Given the description of an element on the screen output the (x, y) to click on. 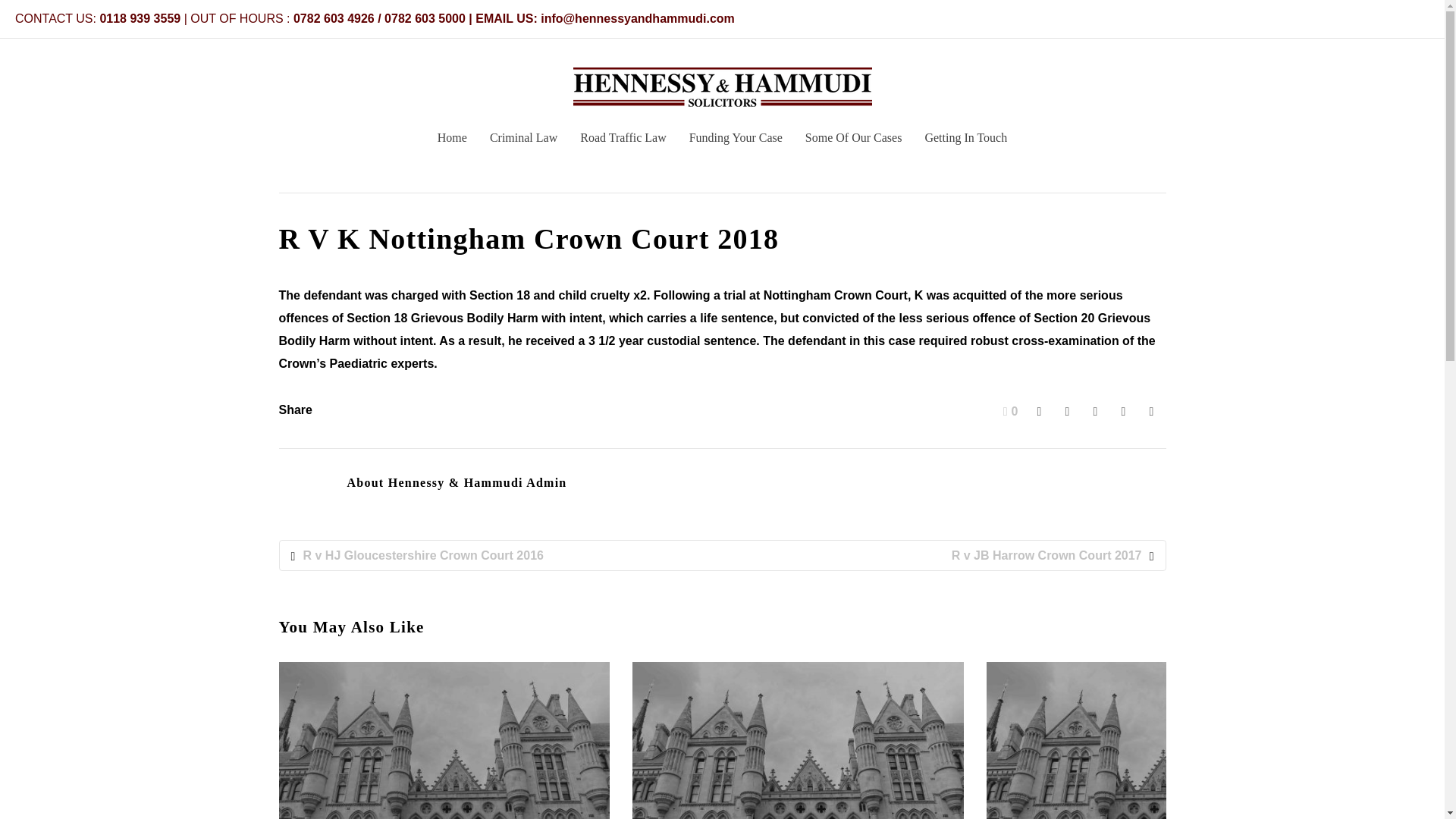
1st February 2017 (525, 157)
0118 939 3559 (139, 18)
Road Traffic Law (623, 143)
R v HJ Gloucestershire Crown Court 2016 (506, 555)
Like this (1010, 410)
Home (452, 143)
Funding Your Case (735, 143)
0 Comments (1117, 157)
Getting In Touch (964, 143)
Some Of Our Cases (853, 143)
